Given the description of an element on the screen output the (x, y) to click on. 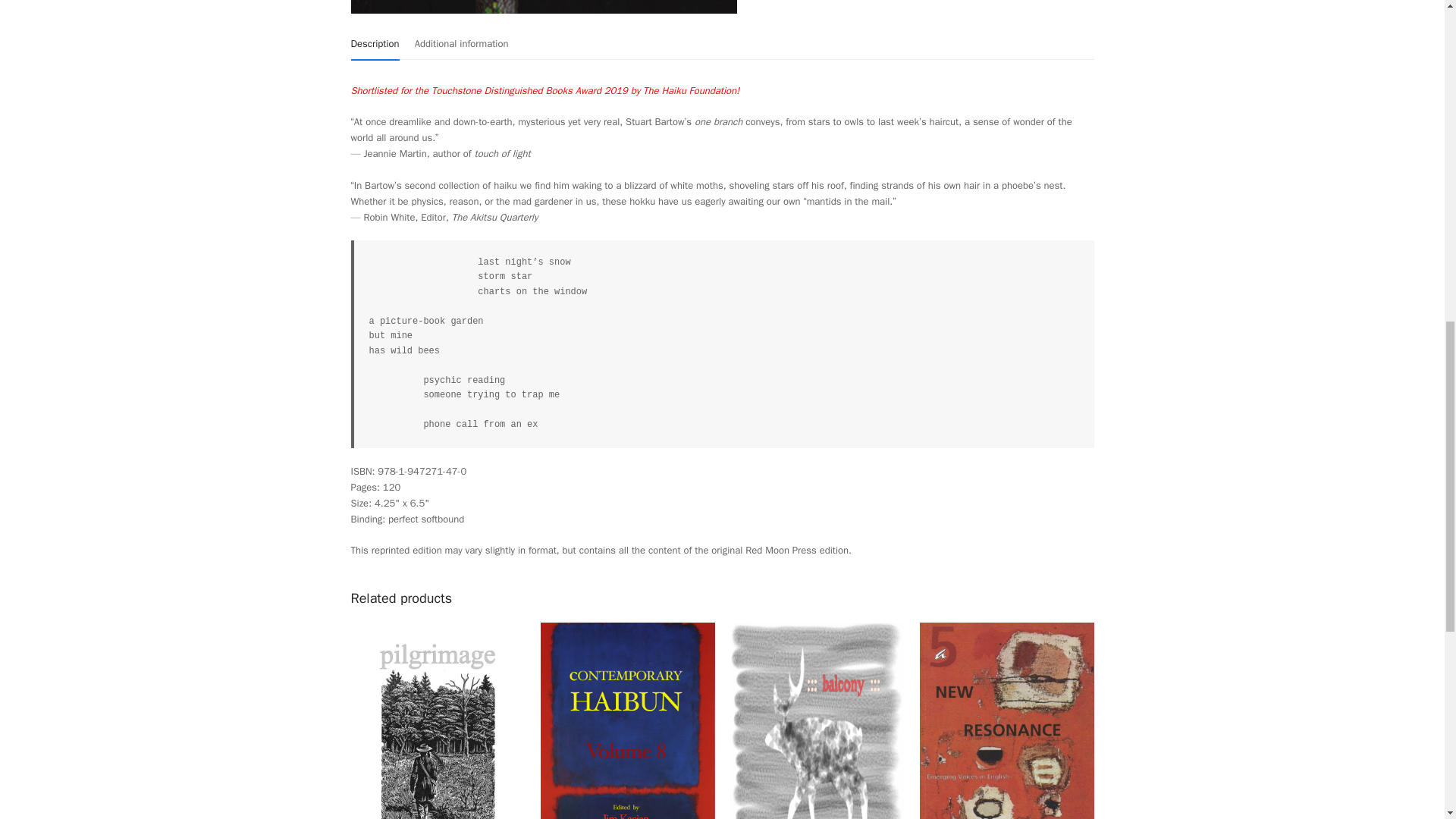
Description (374, 44)
Additional information (461, 43)
